Given the description of an element on the screen output the (x, y) to click on. 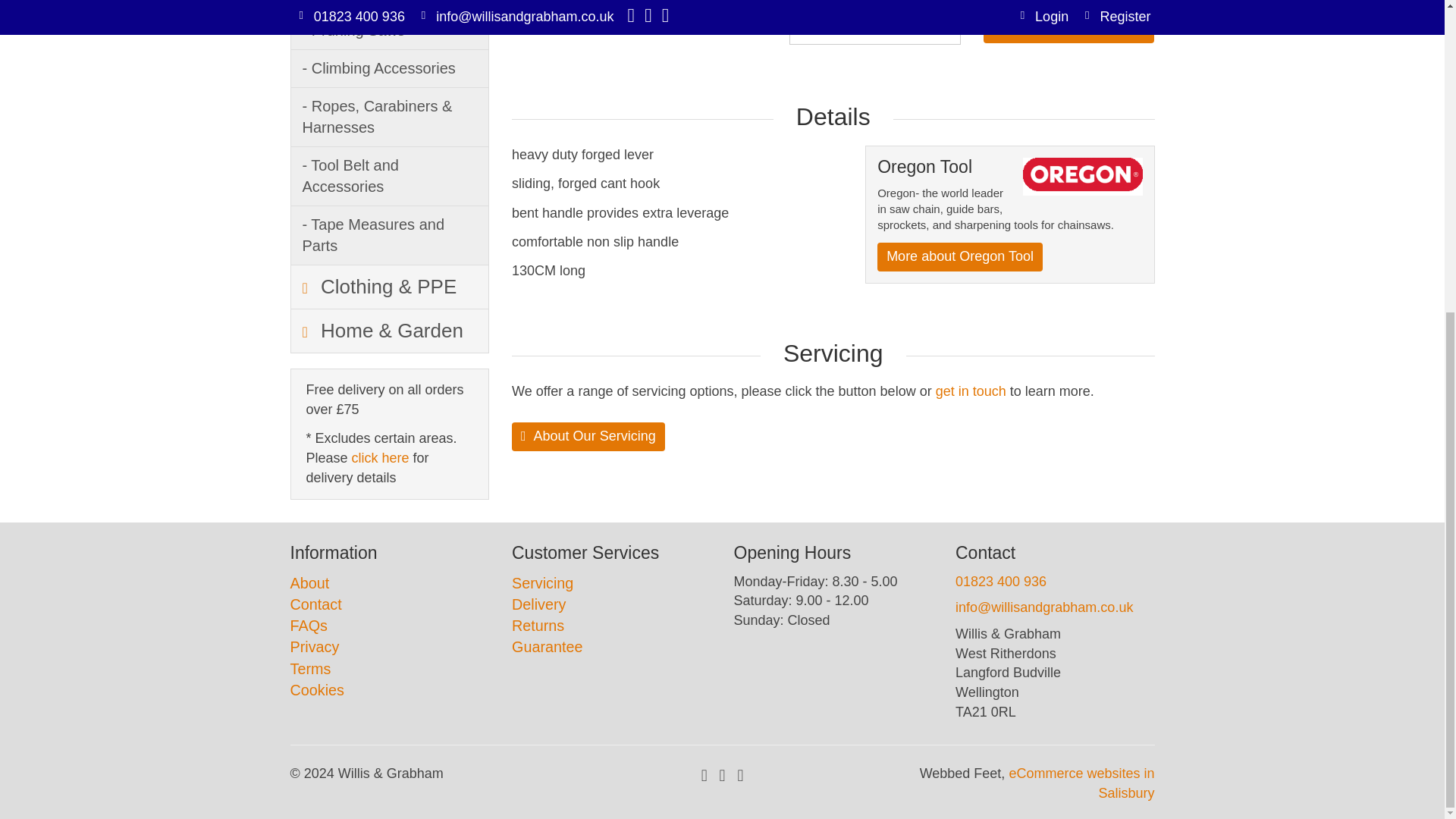
1 (874, 30)
Add to Cart (1069, 28)
Contact us! (971, 391)
